Given the description of an element on the screen output the (x, y) to click on. 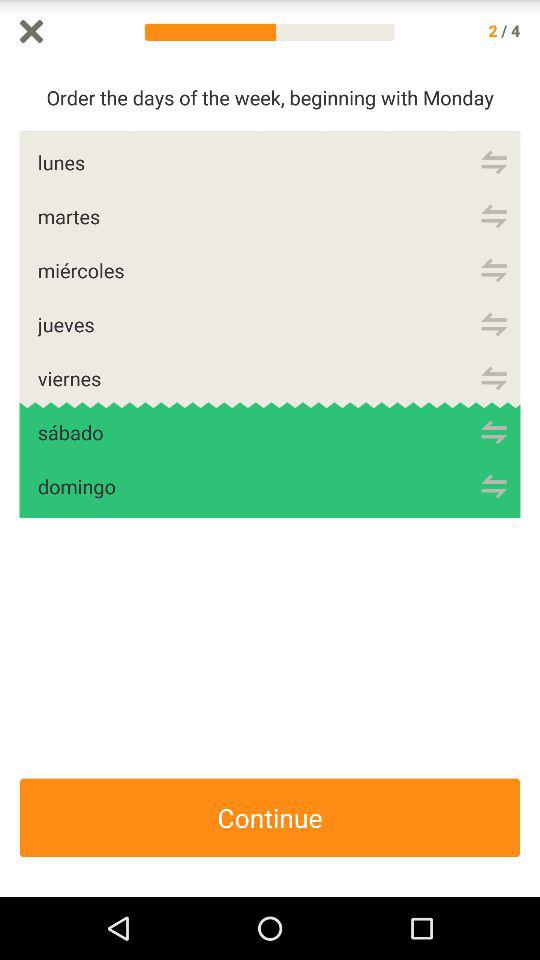
adjust (494, 162)
